Given the description of an element on the screen output the (x, y) to click on. 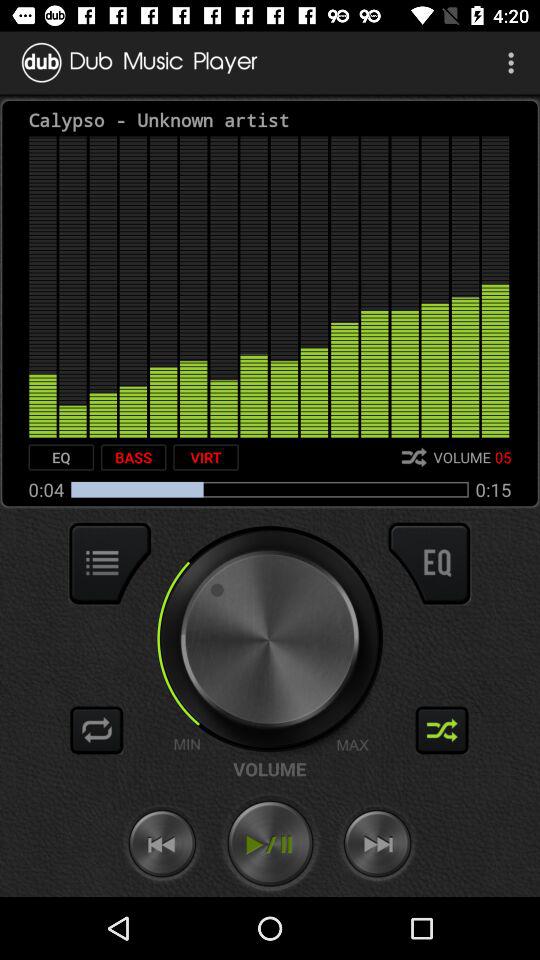
swipe until the  virt  icon (205, 457)
